Given the description of an element on the screen output the (x, y) to click on. 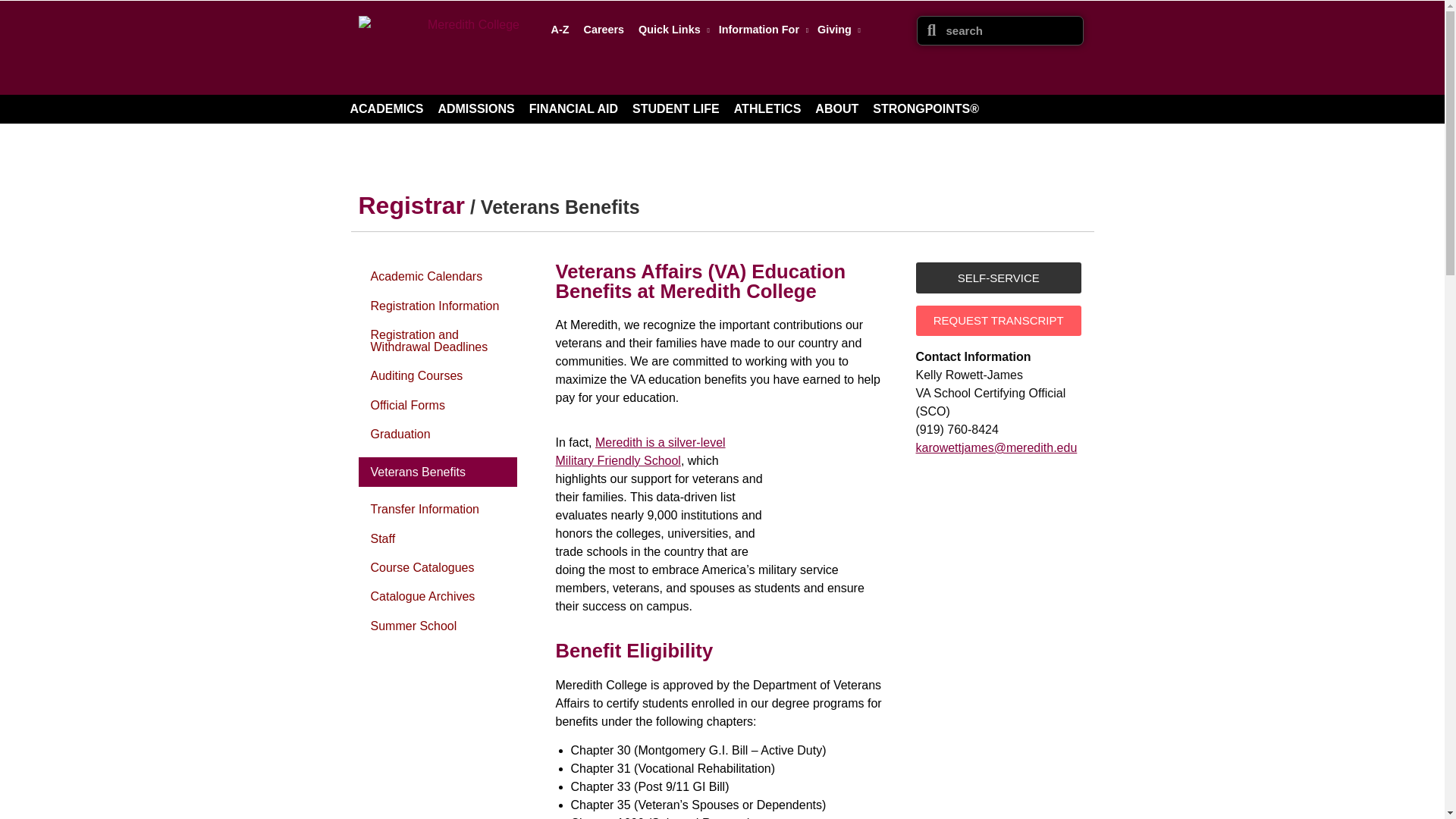
A-Z (559, 29)
ATHLETICS (767, 109)
ADMISSIONS (475, 109)
STUDENT LIFE (675, 109)
Information For (760, 29)
Quick Links (670, 29)
Giving (836, 29)
ACADEMICS (386, 109)
Academic Calendars (425, 276)
Registrar (411, 205)
